Given the description of an element on the screen output the (x, y) to click on. 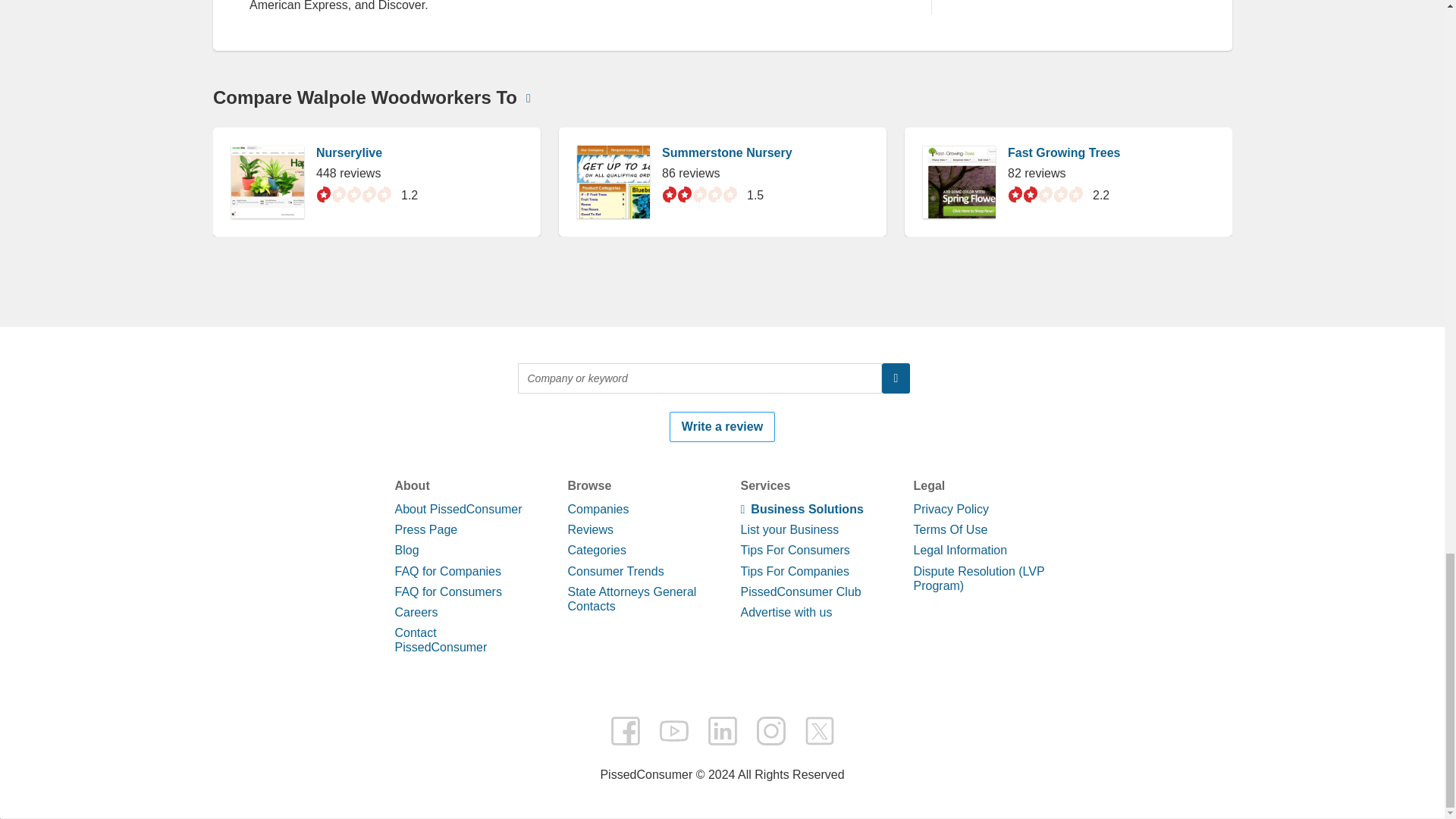
Privacy Policy (950, 508)
Fast Growing Trees (1063, 151)
Blog (406, 550)
Consumer Trends (615, 571)
FAQ for Companies (447, 571)
Write a review (721, 426)
Careers (416, 612)
Advertise with us (785, 612)
Tips For Companies (793, 571)
PissedConsumer Club (799, 591)
